Given the description of an element on the screen output the (x, y) to click on. 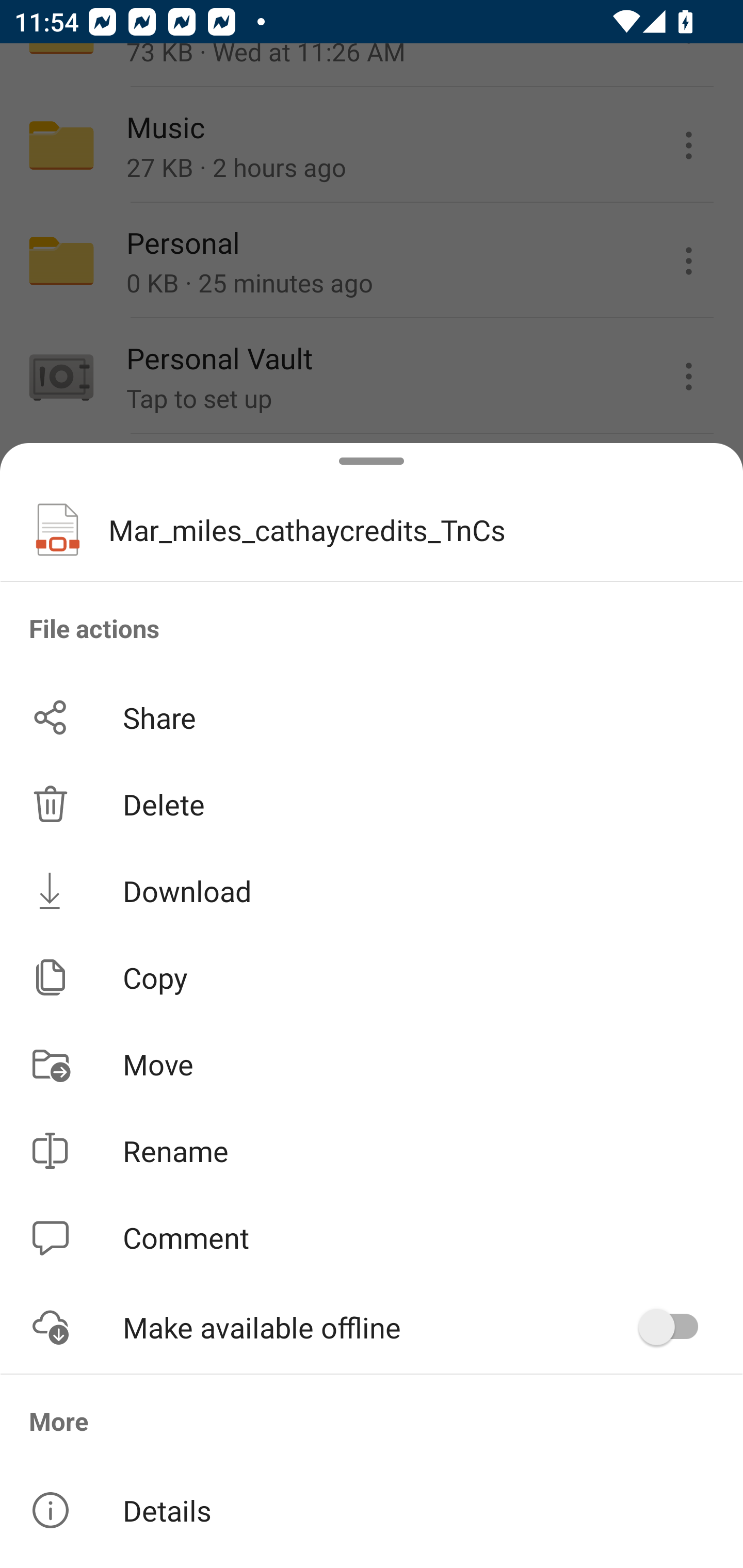
Share button Share (371, 717)
Delete button Delete (371, 803)
Download button Download (371, 890)
Copy button Copy (371, 977)
Move button Move (371, 1063)
Rename button Rename (371, 1150)
Comment button Comment (371, 1237)
Make offline operation (674, 1327)
Details button Details (371, 1510)
